Given the description of an element on the screen output the (x, y) to click on. 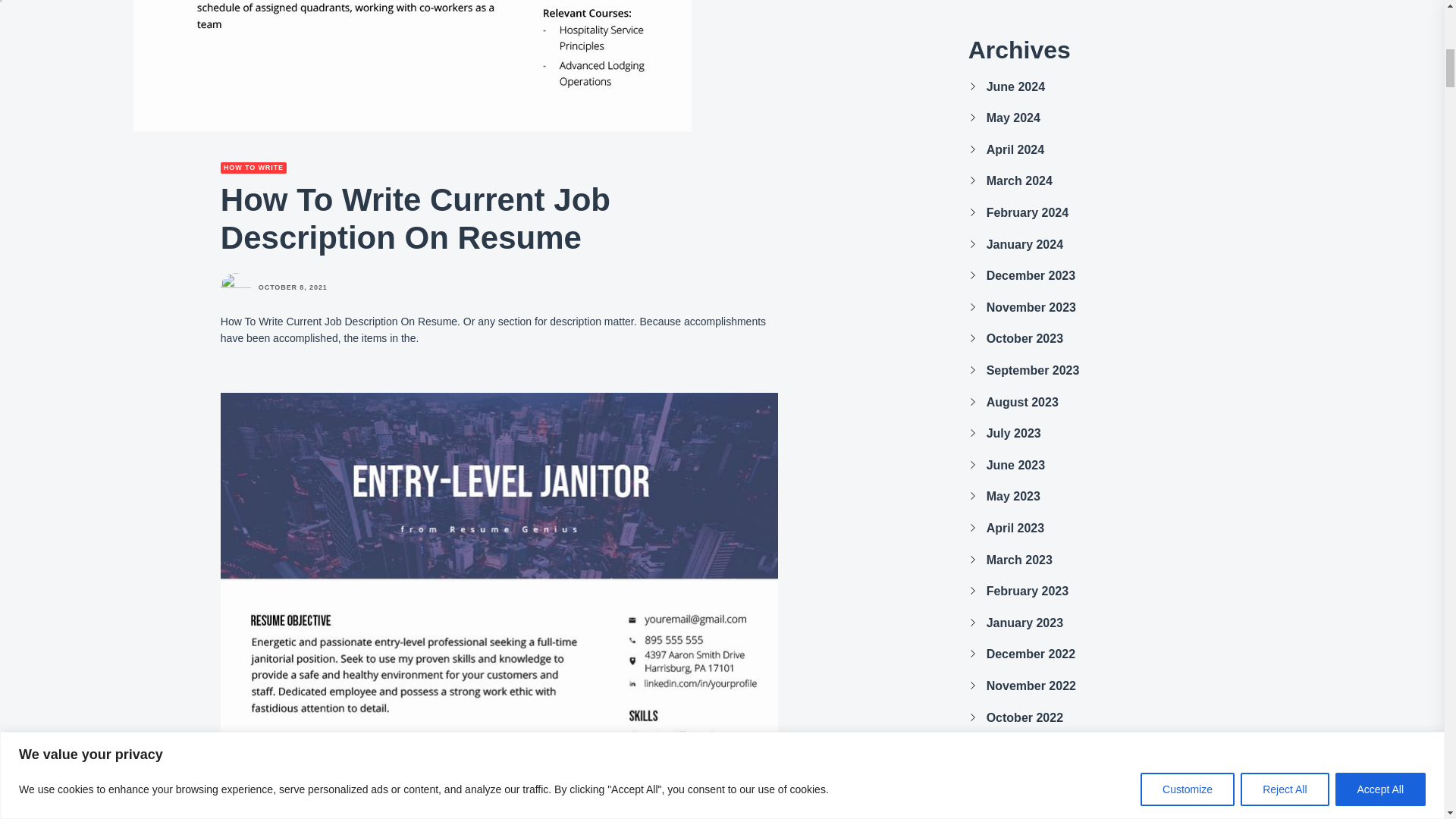
How To Write Current Job Description On Resume (412, 65)
HOW TO WRITE (253, 167)
OCTOBER 8, 2021 (293, 287)
